Given the description of an element on the screen output the (x, y) to click on. 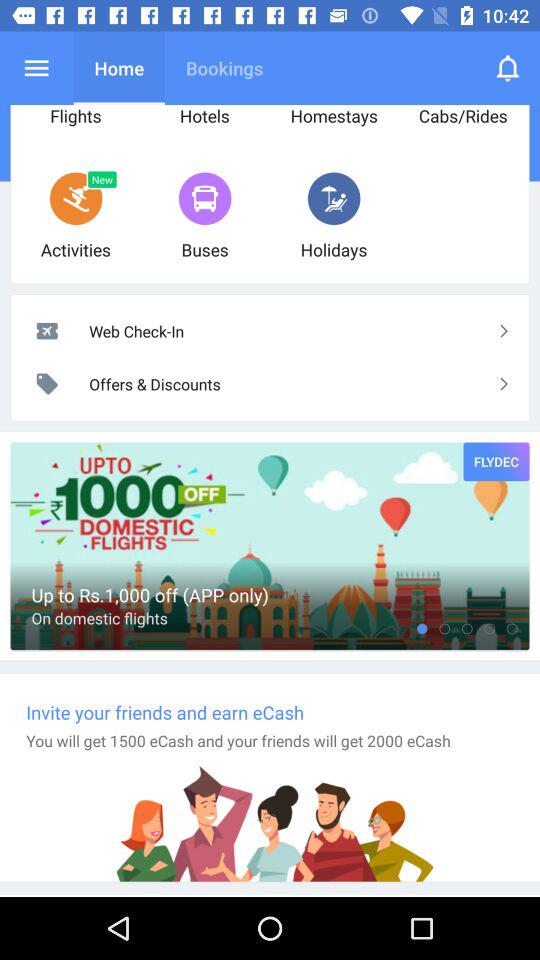
launch the item below the flydec icon (489, 628)
